Given the description of an element on the screen output the (x, y) to click on. 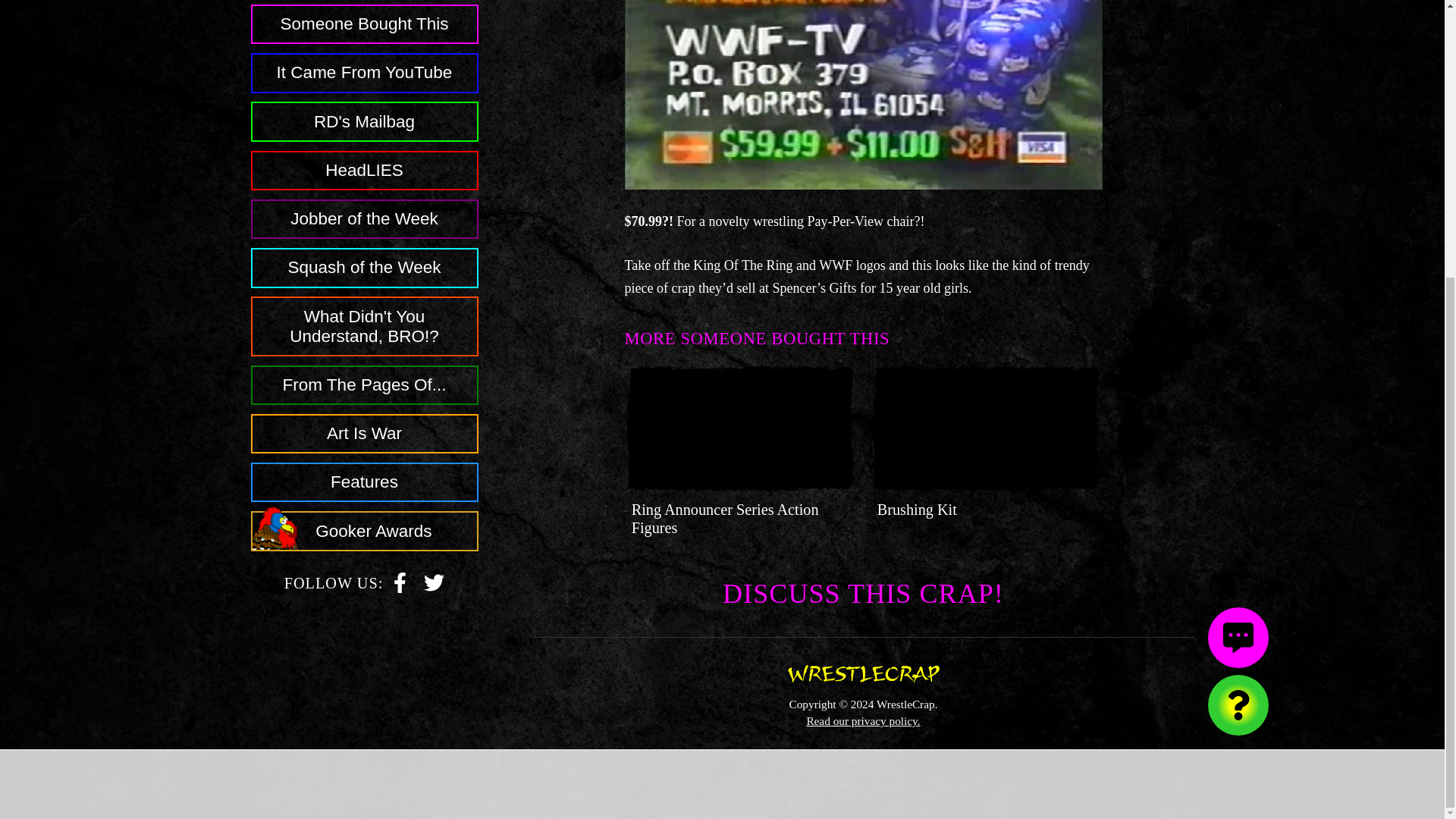
What Didn't You Understand, BRO!? (363, 318)
Features (363, 474)
Twitter (433, 575)
Brushing Kit (916, 509)
It Came From YouTube (363, 65)
Ring Announcer Series Action Figures (433, 573)
Read our privacy policy. (724, 518)
Gooker Awards (400, 573)
Squash of the Week (863, 720)
Jobber of the Week (363, 522)
Facebook (363, 260)
RD's Mailbag (363, 210)
Art Is War (400, 575)
